Given the description of an element on the screen output the (x, y) to click on. 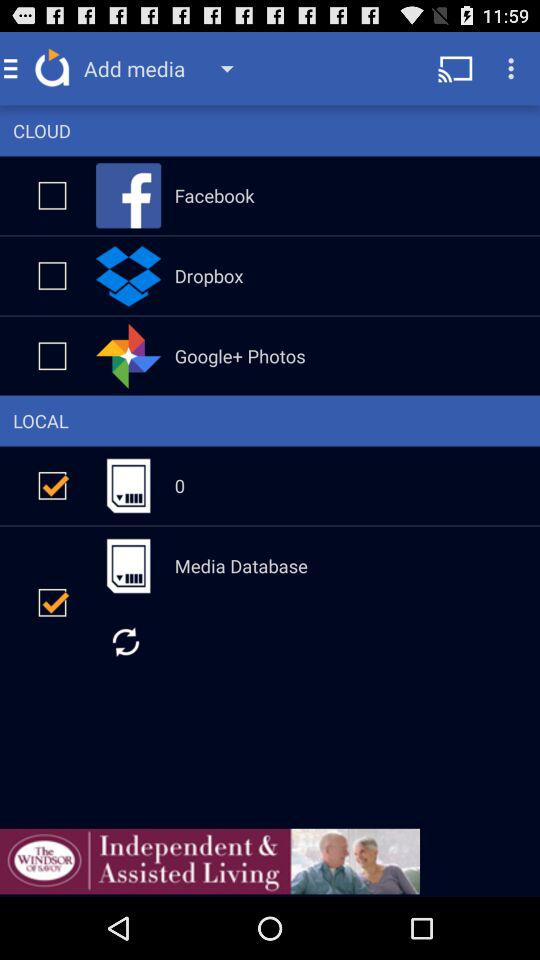
go to click option (52, 275)
